Given the description of an element on the screen output the (x, y) to click on. 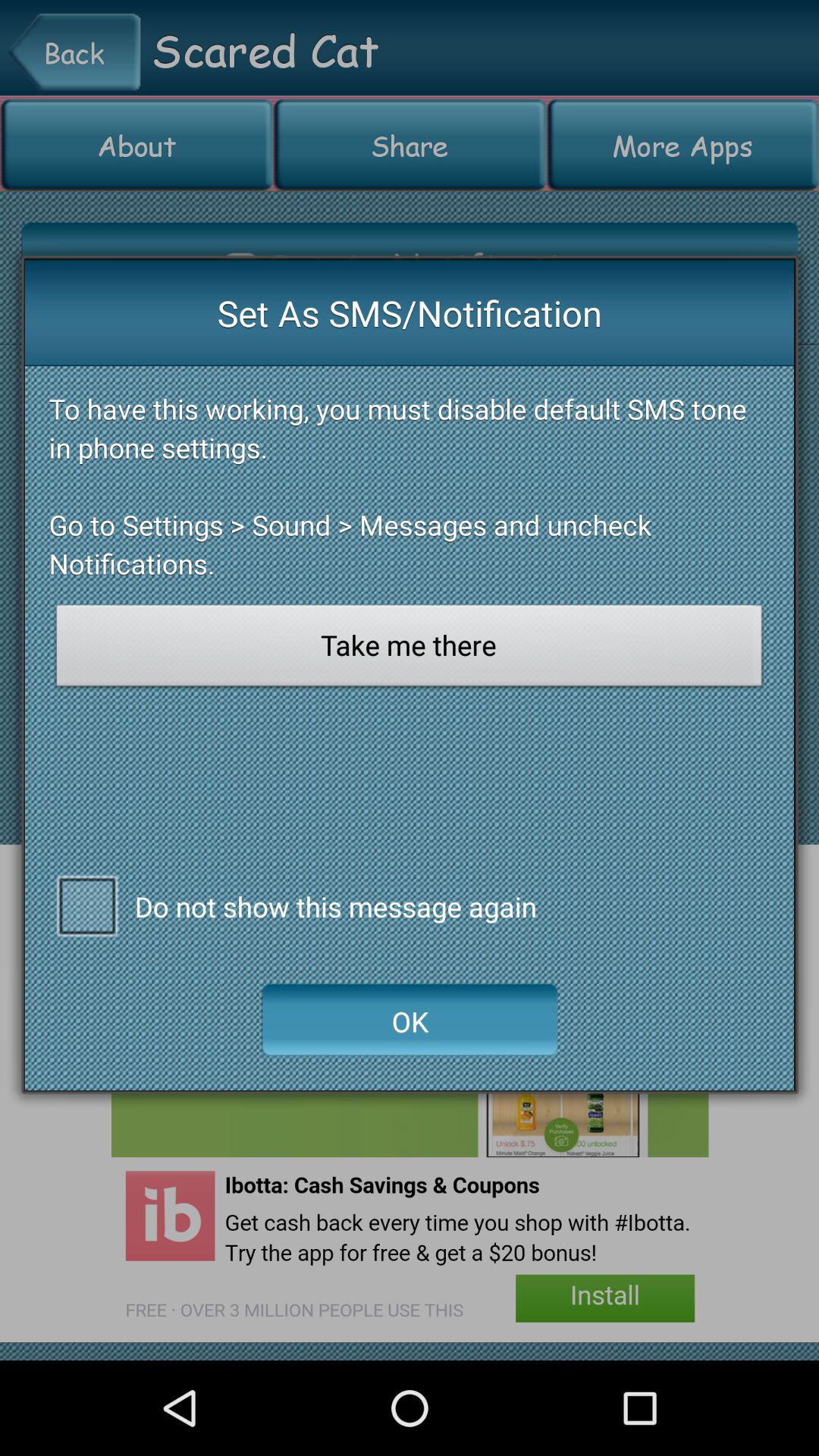
toggle do not show this message again (86, 904)
